Given the description of an element on the screen output the (x, y) to click on. 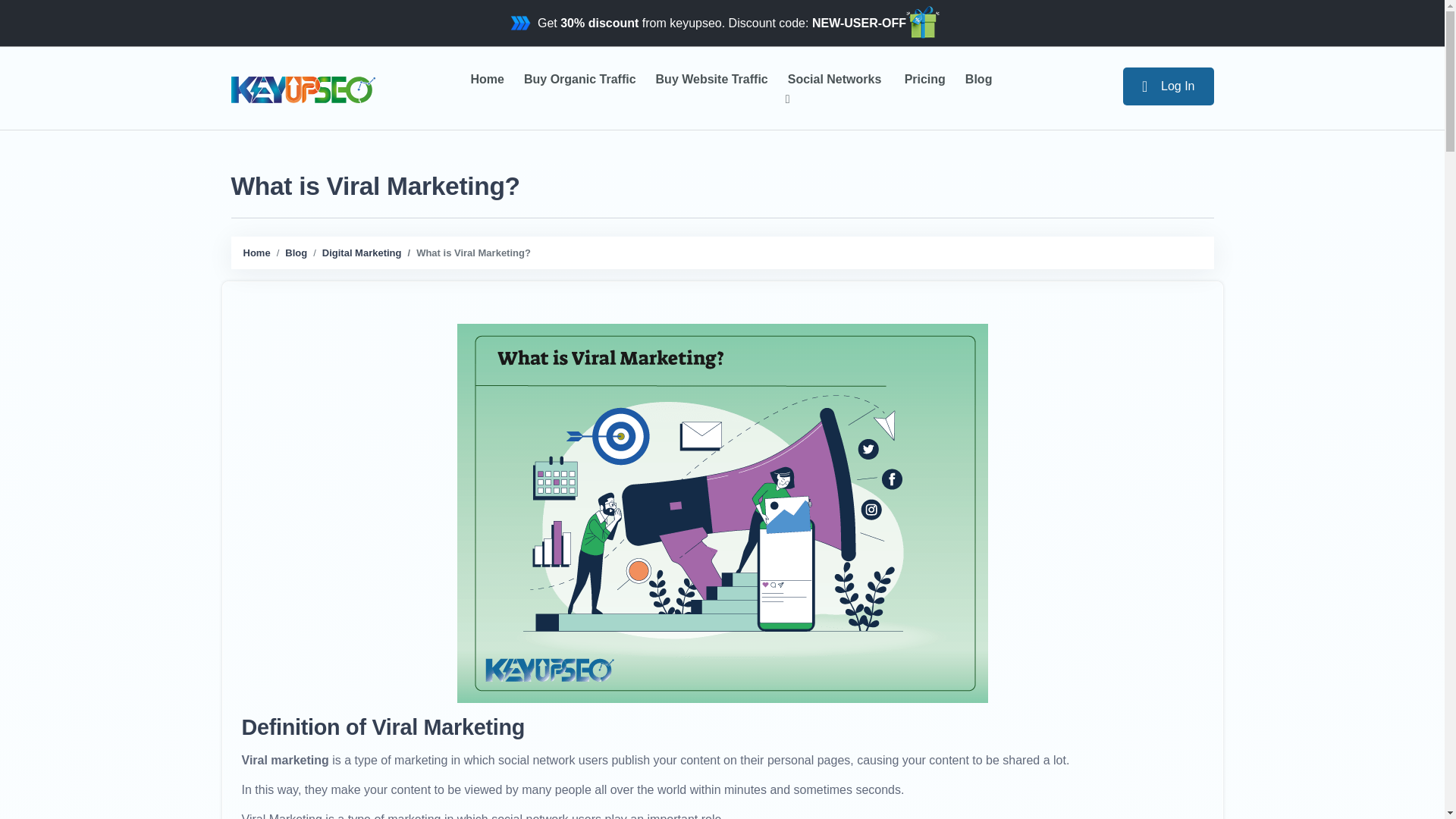
Buy Organic Traffic (580, 79)
Log In (1167, 85)
Buy Website Traffic (712, 79)
Social Networks (836, 88)
